Given the description of an element on the screen output the (x, y) to click on. 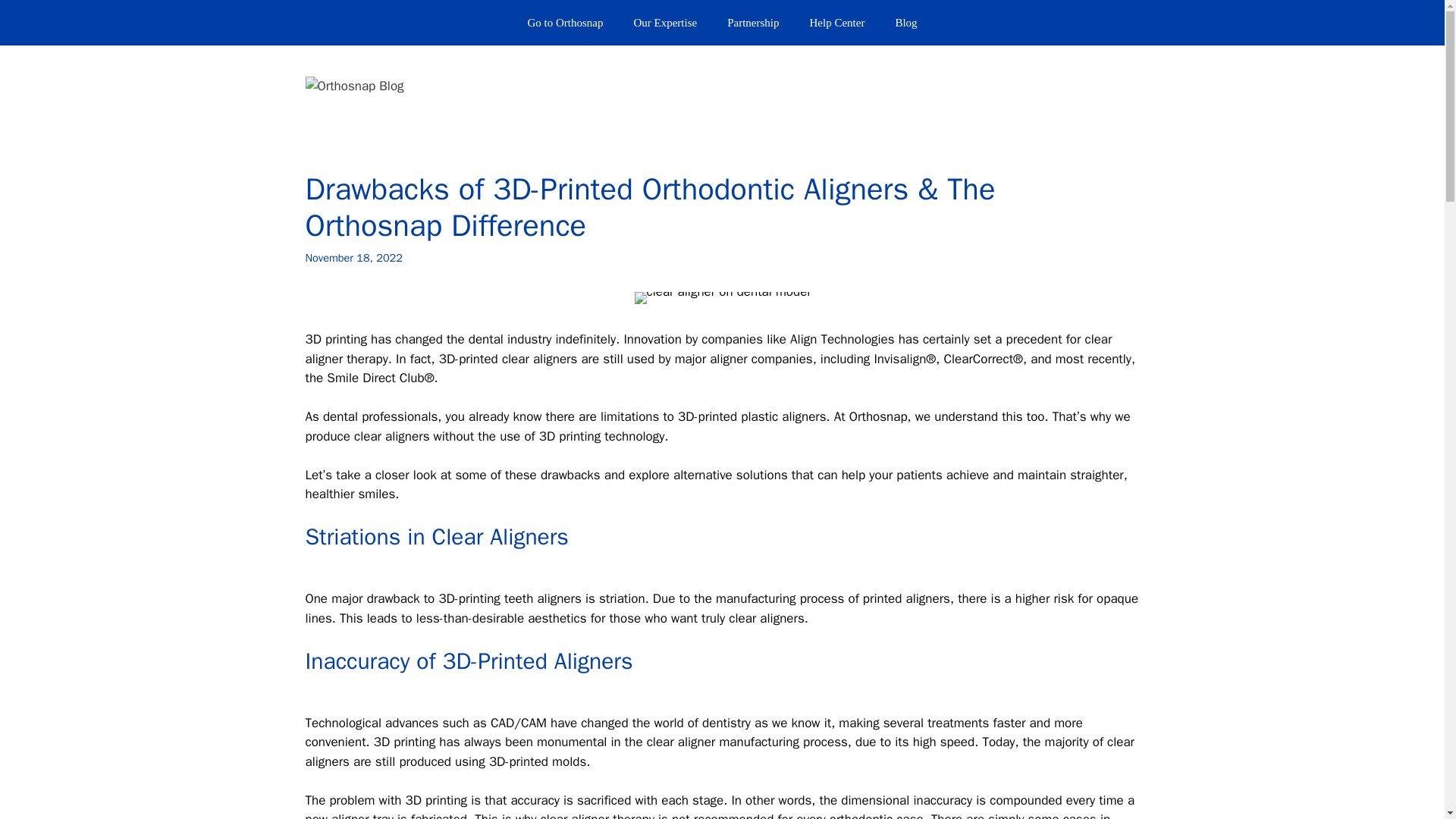
Orthosnap Blog (353, 84)
3:55 pm (352, 257)
Go to Orthosnap (564, 22)
November 18, 2022 (352, 257)
Our Expertise (664, 22)
Blog (905, 22)
Orthosnap Blog (353, 86)
Help Center (836, 22)
Partnership (752, 22)
